Given the description of an element on the screen output the (x, y) to click on. 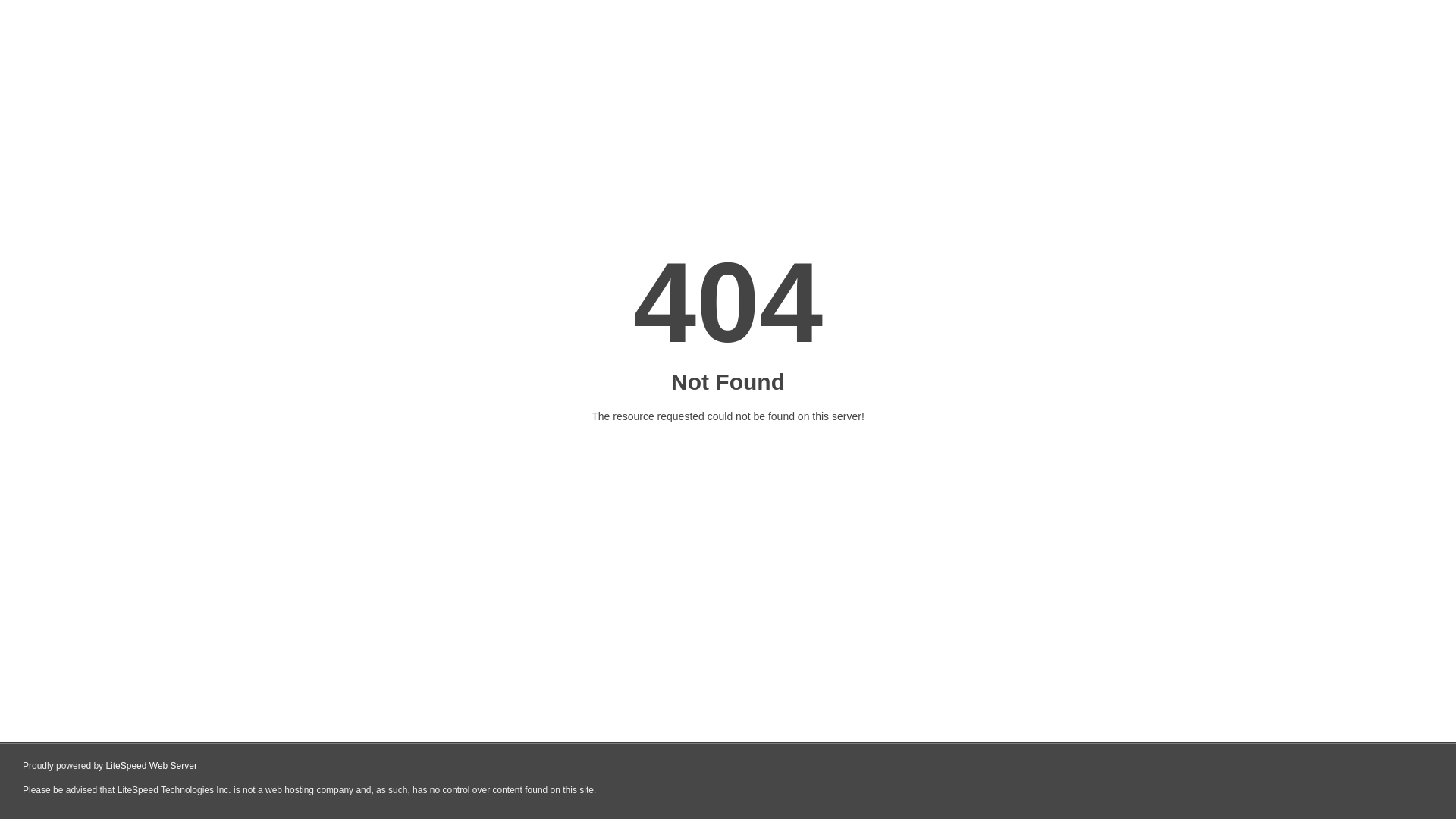
LiteSpeed Web Server Element type: text (151, 765)
